Given the description of an element on the screen output the (x, y) to click on. 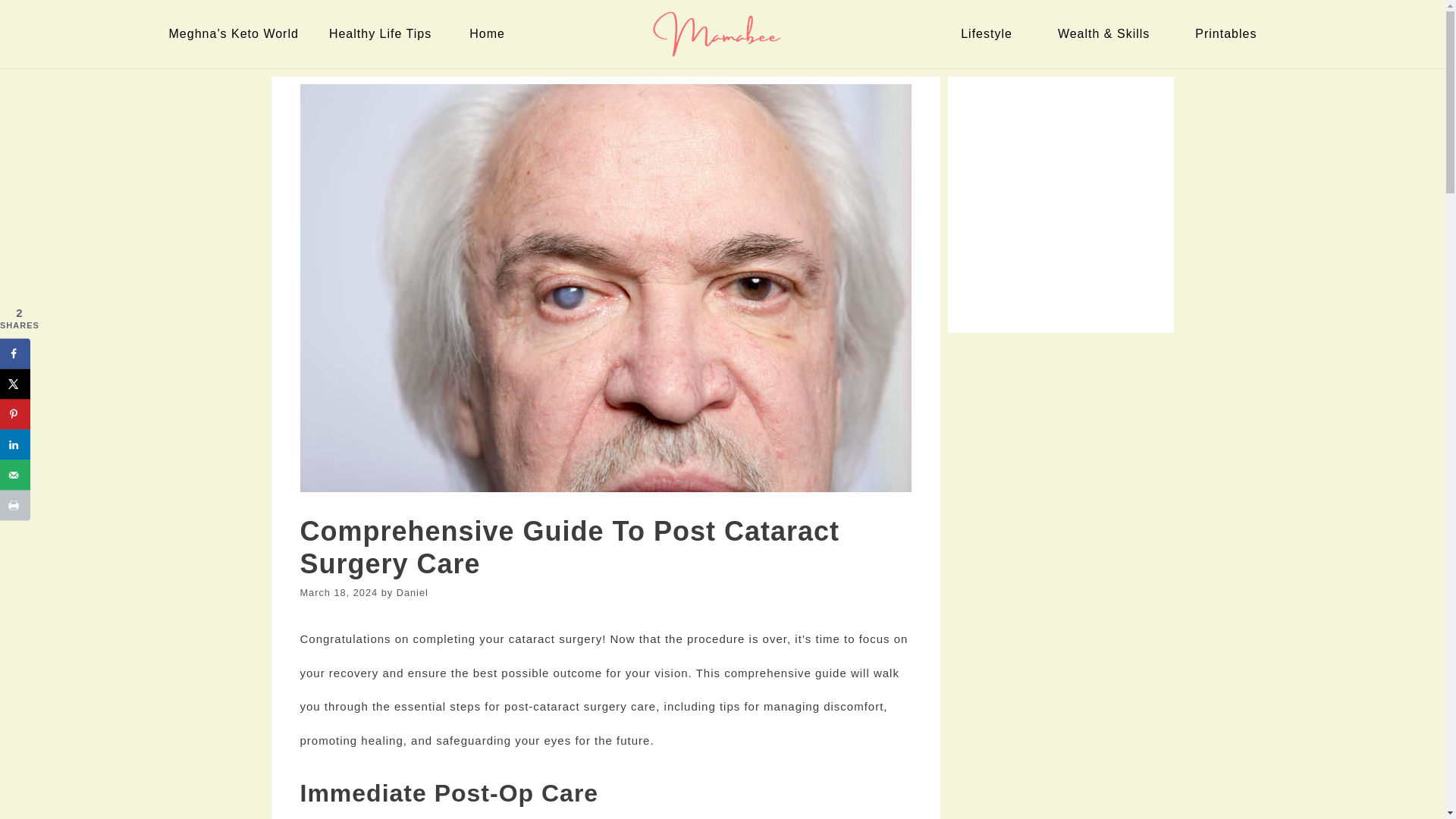
Share on Facebook (15, 353)
Healthy Life Tips (383, 33)
Home (490, 33)
Share on X (15, 383)
Lifestyle (989, 33)
View all posts by Daniel (412, 592)
Save to Pinterest (15, 413)
Share on LinkedIn (15, 444)
